Given the description of an element on the screen output the (x, y) to click on. 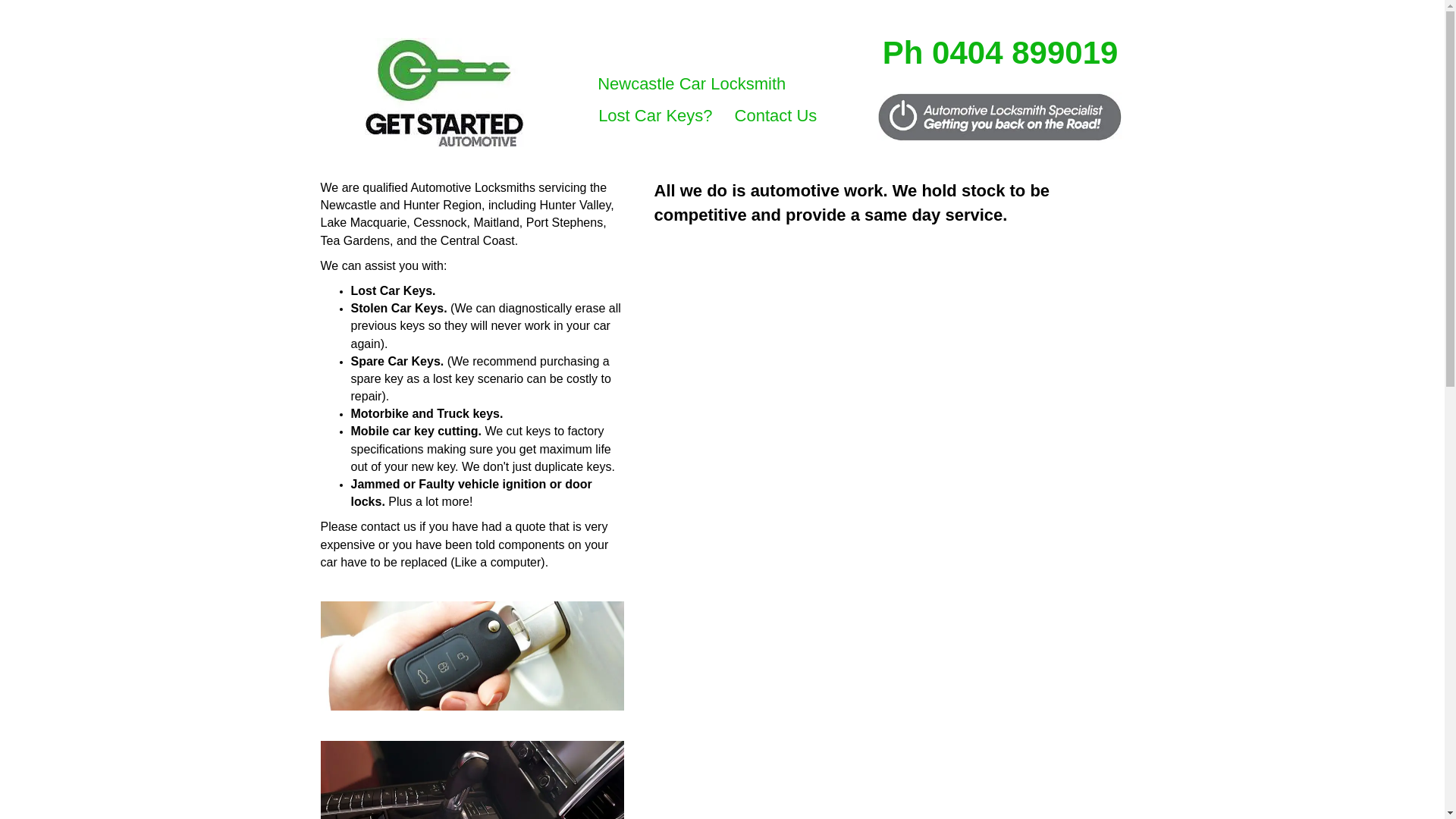
car key with door of the car. Element type: hover (471, 656)
Contact Us Element type: text (776, 115)
Auto Locksmith Banner Element type: hover (1000, 116)
Lost Car Keys? Element type: text (654, 115)
Newcastle Car Locksmith Element type: text (691, 84)
Get-Started-Logo_opt Element type: hover (444, 92)
